Given the description of an element on the screen output the (x, y) to click on. 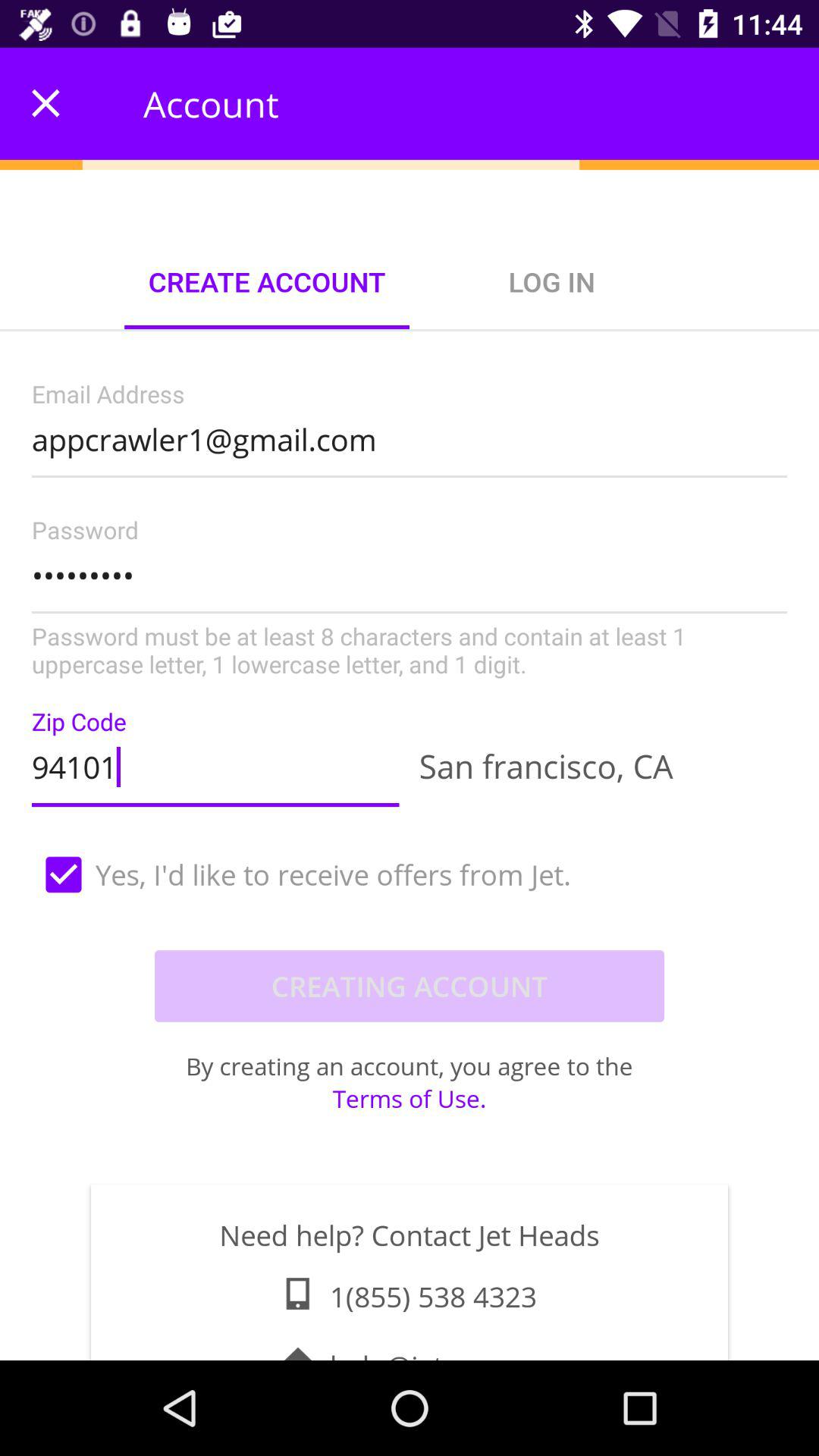
open the item above need help contact item (409, 1098)
